Given the description of an element on the screen output the (x, y) to click on. 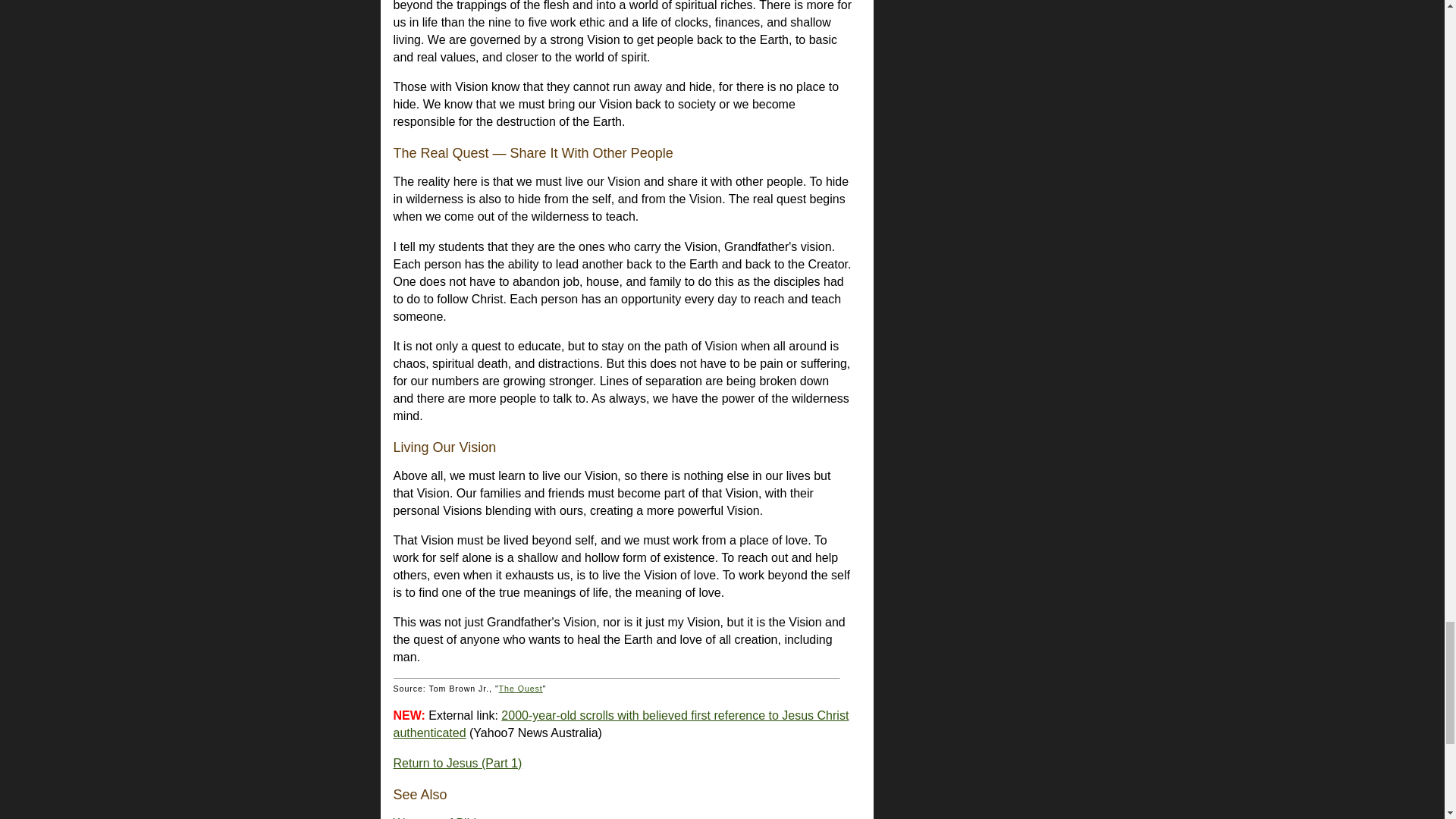
Waterproof Bible (438, 817)
The Quest (521, 687)
